Given the description of an element on the screen output the (x, y) to click on. 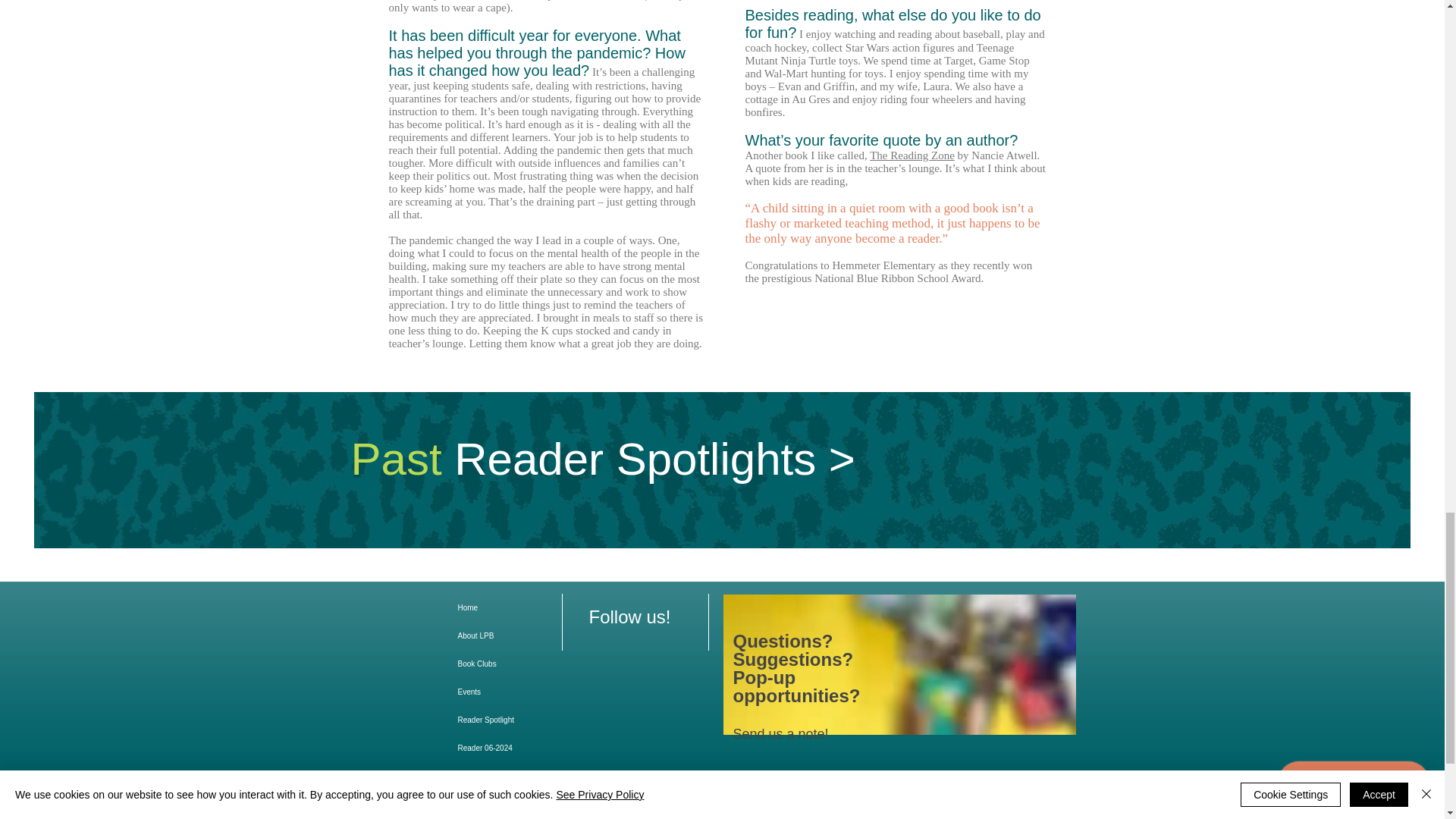
The Reading Zone (912, 155)
